Given the description of an element on the screen output the (x, y) to click on. 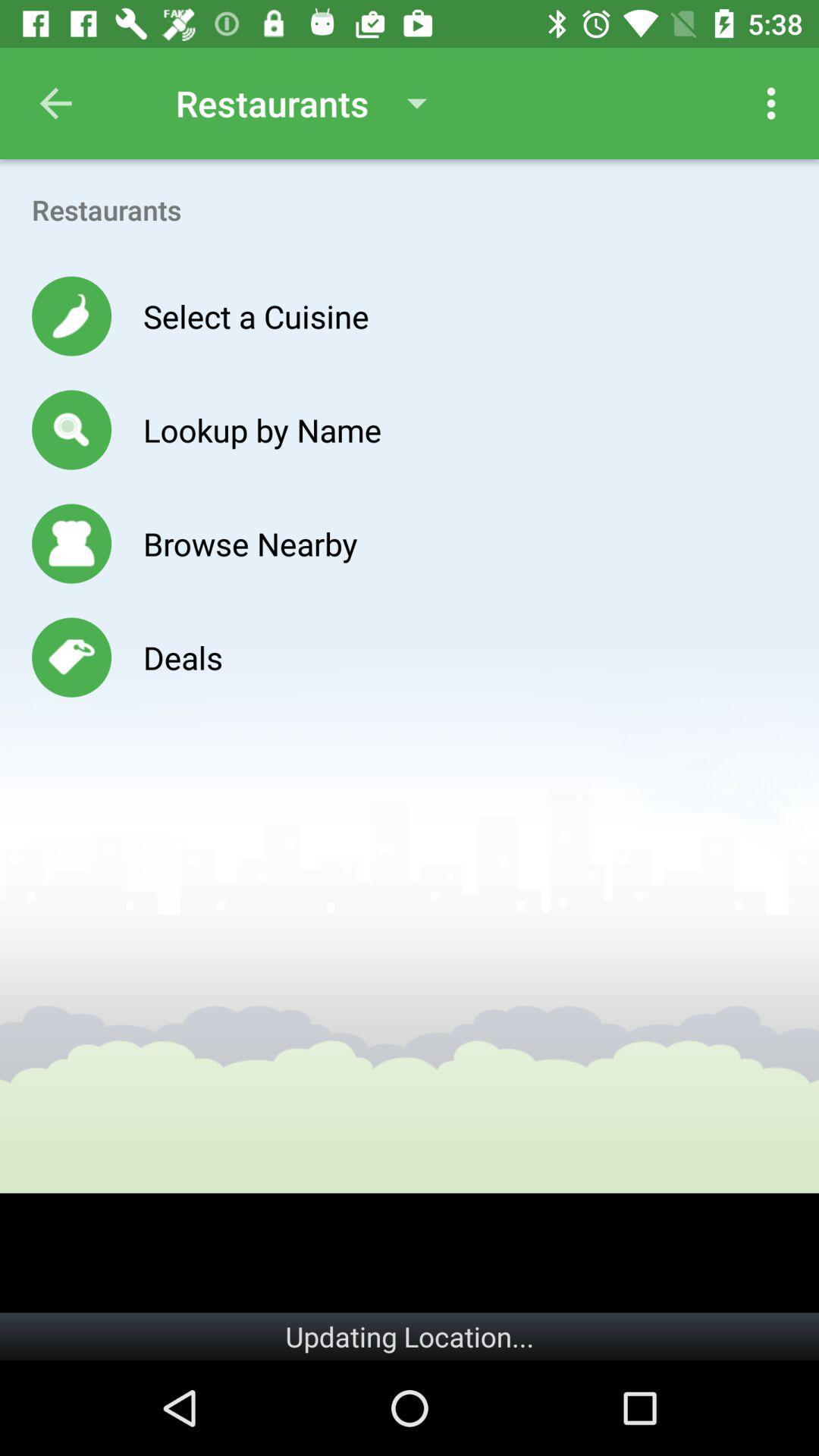
choose the item above deals (250, 543)
